Given the description of an element on the screen output the (x, y) to click on. 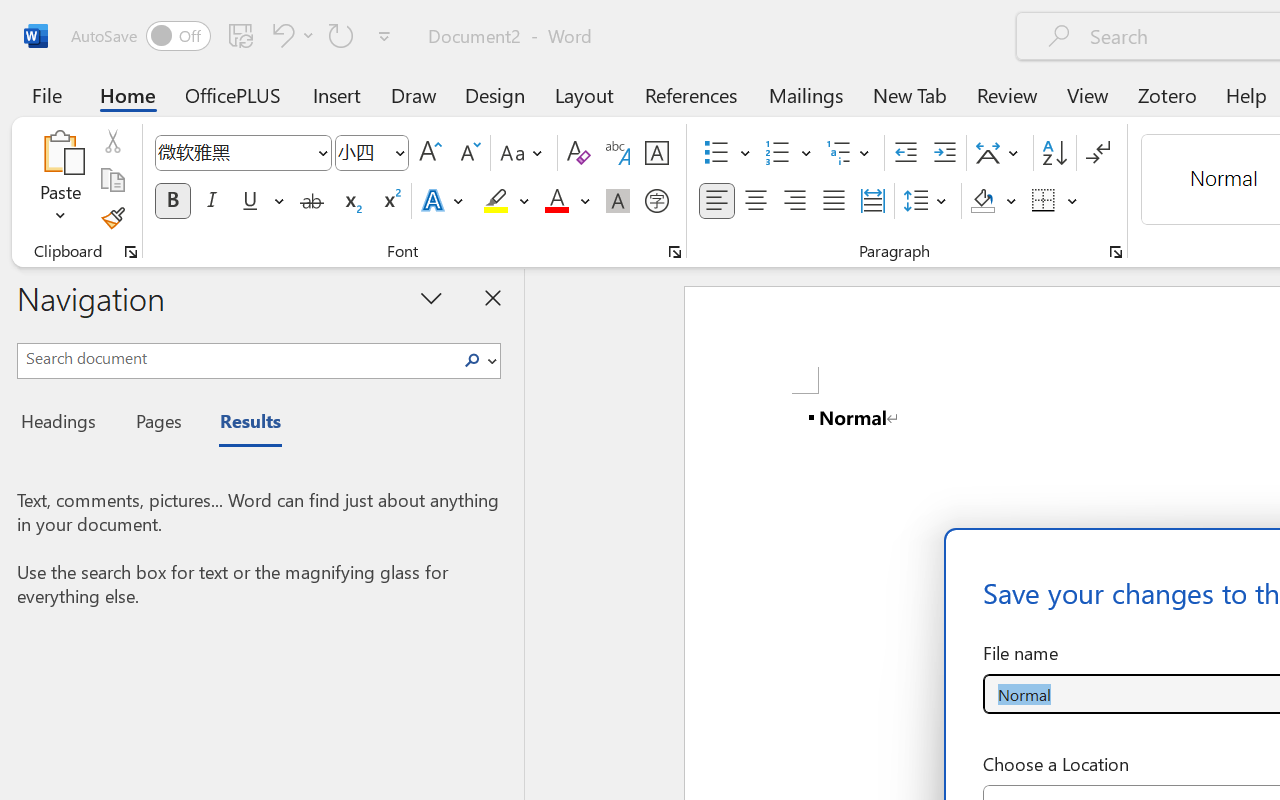
Grow Font (430, 153)
Bullets (716, 153)
Underline (250, 201)
References (690, 94)
Distributed (872, 201)
Copy (112, 179)
Clear Formatting (578, 153)
Insert (337, 94)
Repeat Text Fill Effect (341, 35)
Numbering (788, 153)
Strikethrough (312, 201)
Home (127, 94)
Decrease Indent (906, 153)
